Given the description of an element on the screen output the (x, y) to click on. 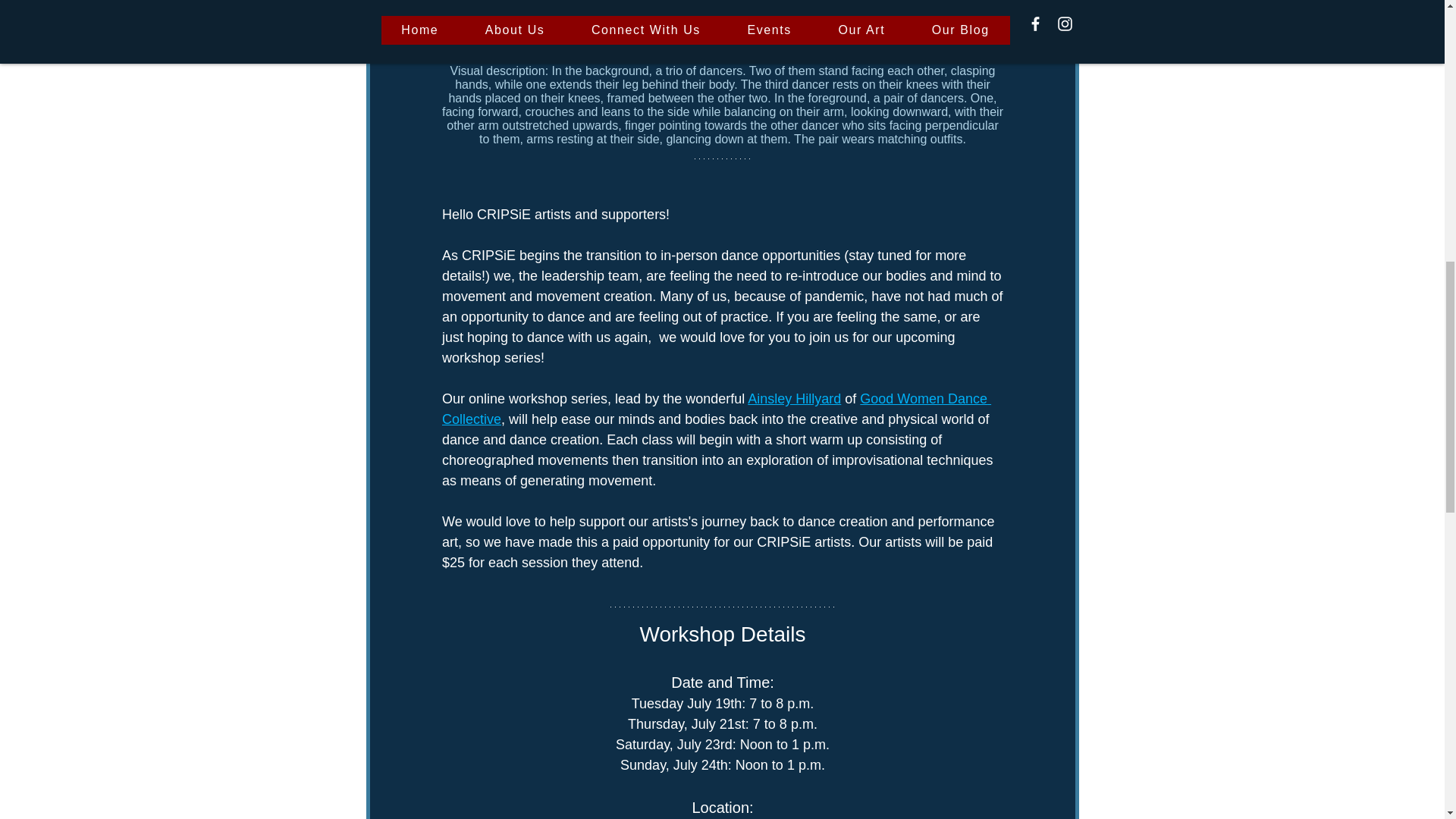
Good Women Dance Collective (715, 408)
Ainsley Hillyard (794, 398)
